Given the description of an element on the screen output the (x, y) to click on. 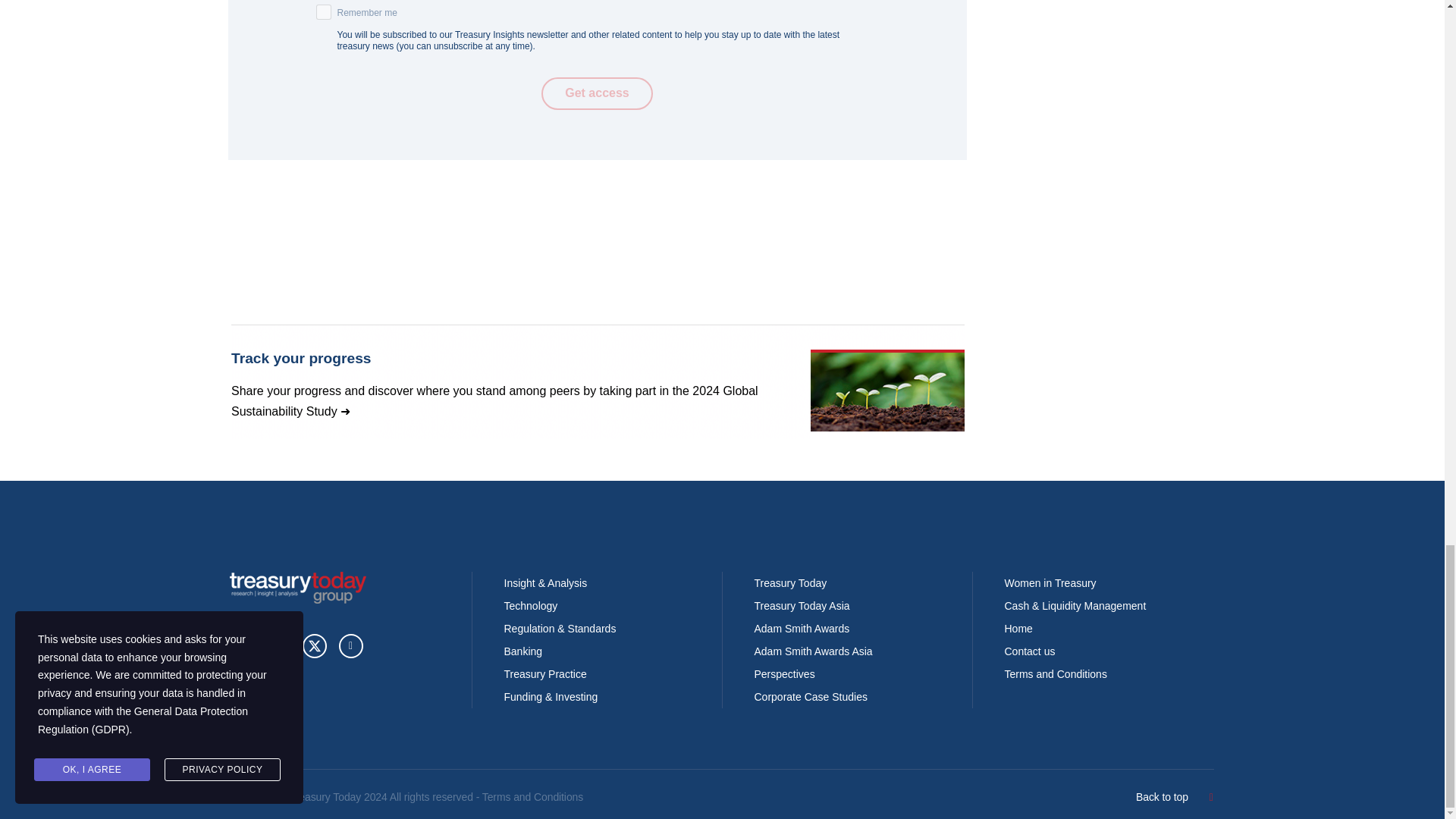
on (322, 11)
3rd party ad content (596, 381)
